Given the description of an element on the screen output the (x, y) to click on. 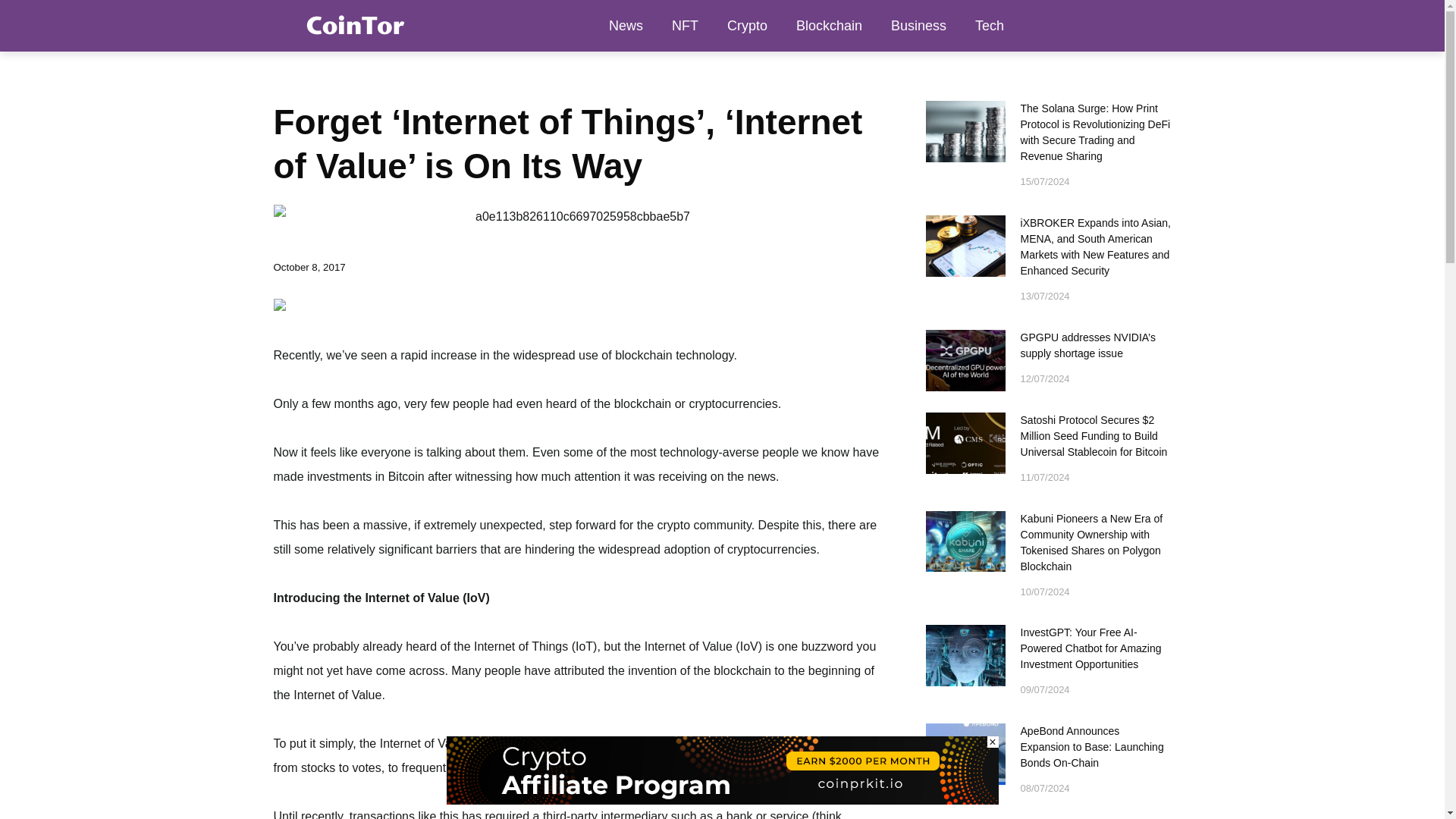
CoinTor (353, 25)
Blockchain (828, 25)
News (626, 25)
Business (918, 25)
Crypto (747, 25)
NFT (685, 25)
Tech (988, 25)
a0e113b826110c6697025958cbbae5b7 (576, 216)
close (992, 741)
